Given the description of an element on the screen output the (x, y) to click on. 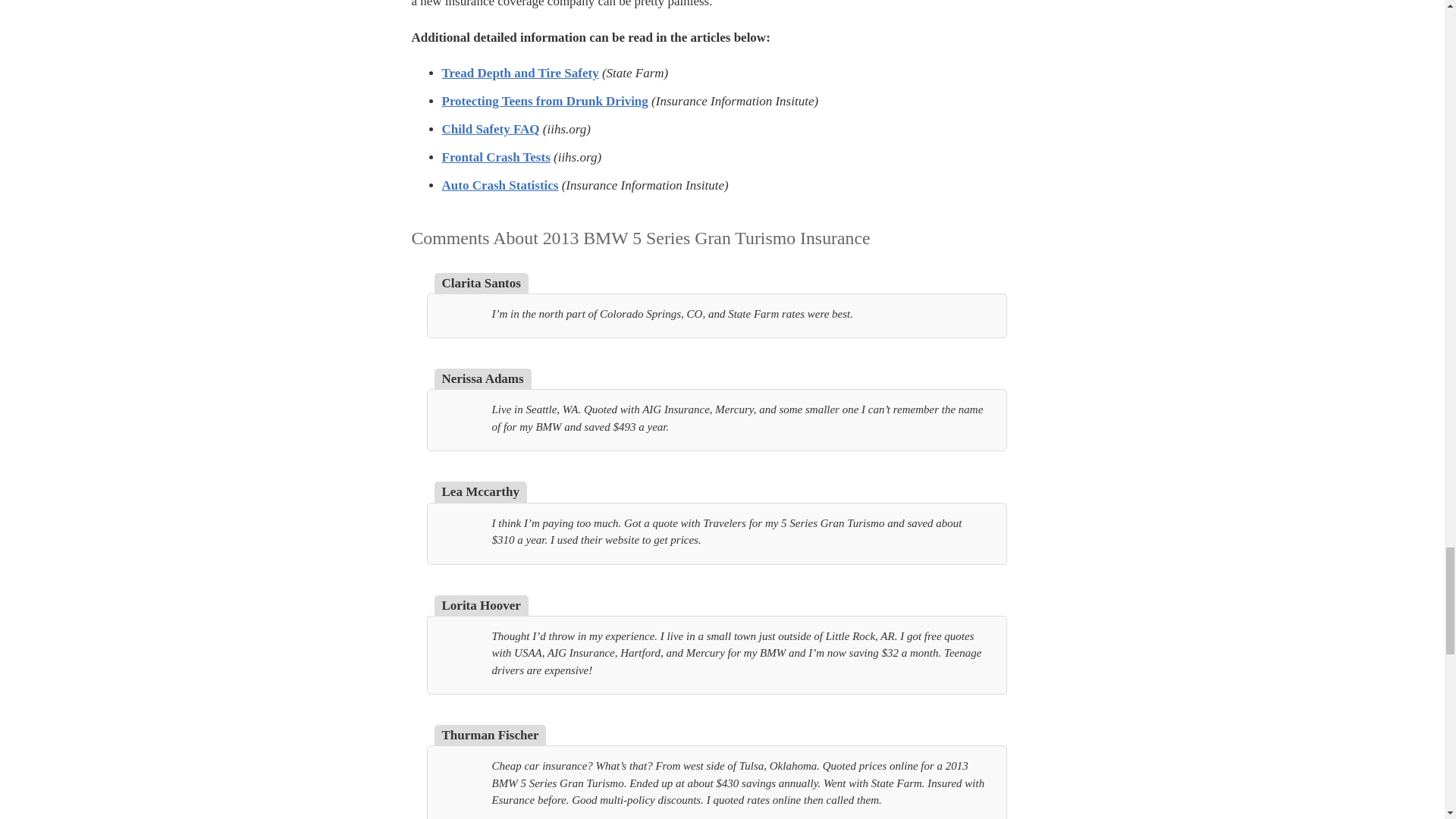
Tread Depth and Tire Safety (519, 73)
Protecting Teens from Drunk Driving (544, 101)
Auto Crash Statistics (499, 185)
Frontal Crash Tests (495, 156)
Child Safety FAQ (489, 129)
